Given the description of an element on the screen output the (x, y) to click on. 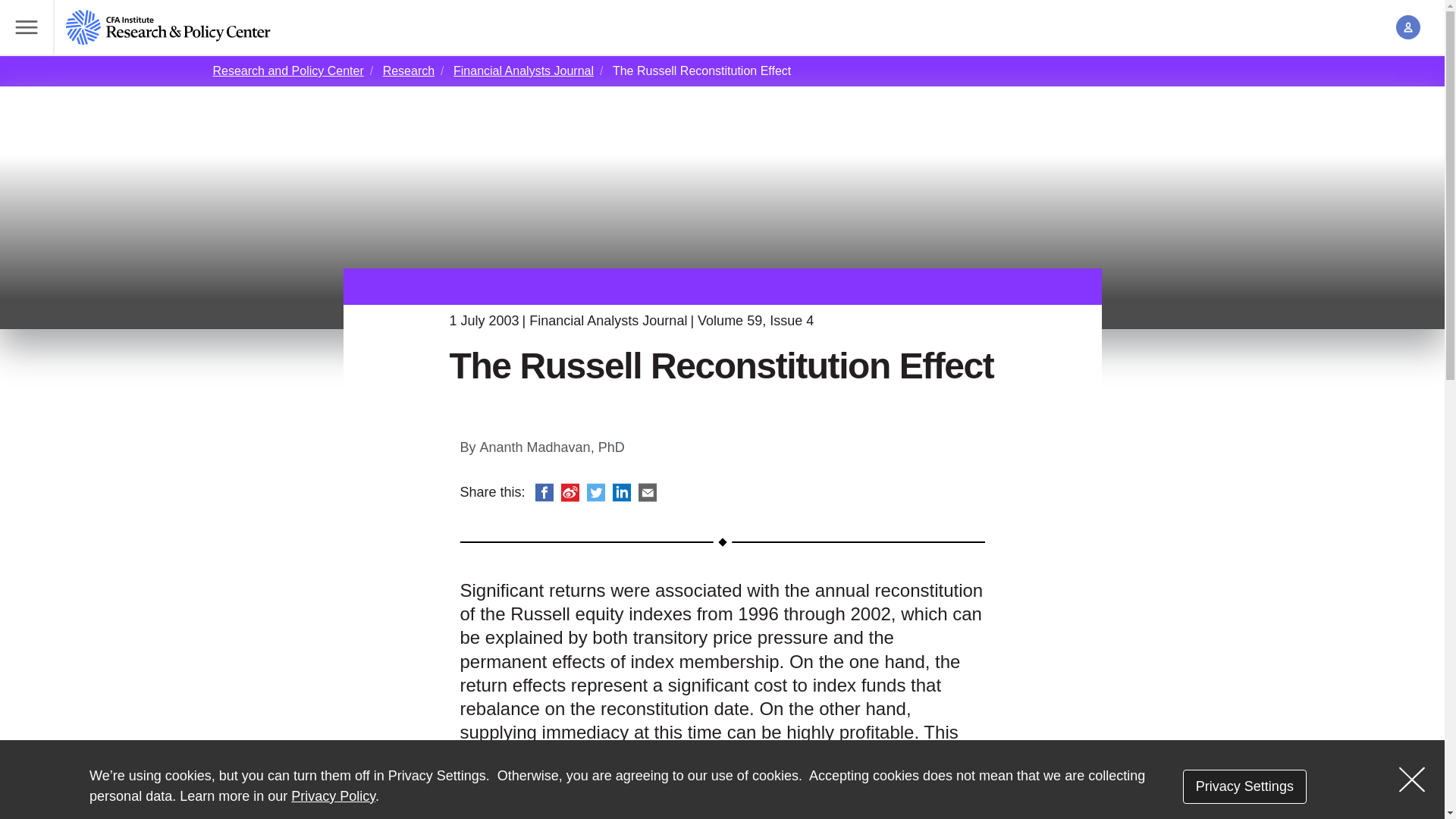
Share on Weibo (569, 492)
Account (1408, 27)
Share on LinkedIn (621, 492)
Share on Twitter (595, 492)
Share on Facebook (544, 492)
Share by Email (647, 492)
Toggle menu (27, 27)
